Given the description of an element on the screen output the (x, y) to click on. 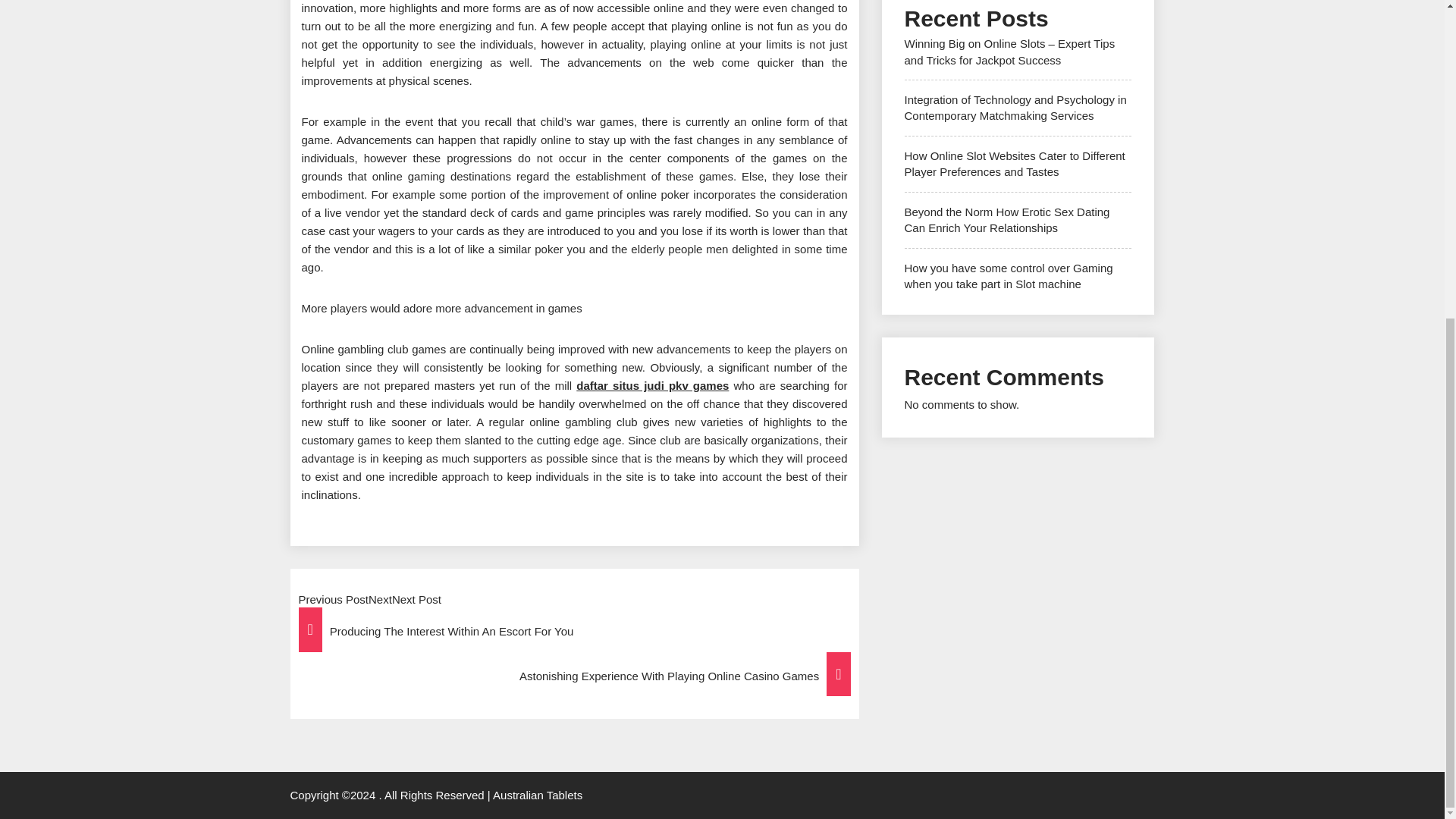
daftar situs judi pkv games (652, 385)
